Given the description of an element on the screen output the (x, y) to click on. 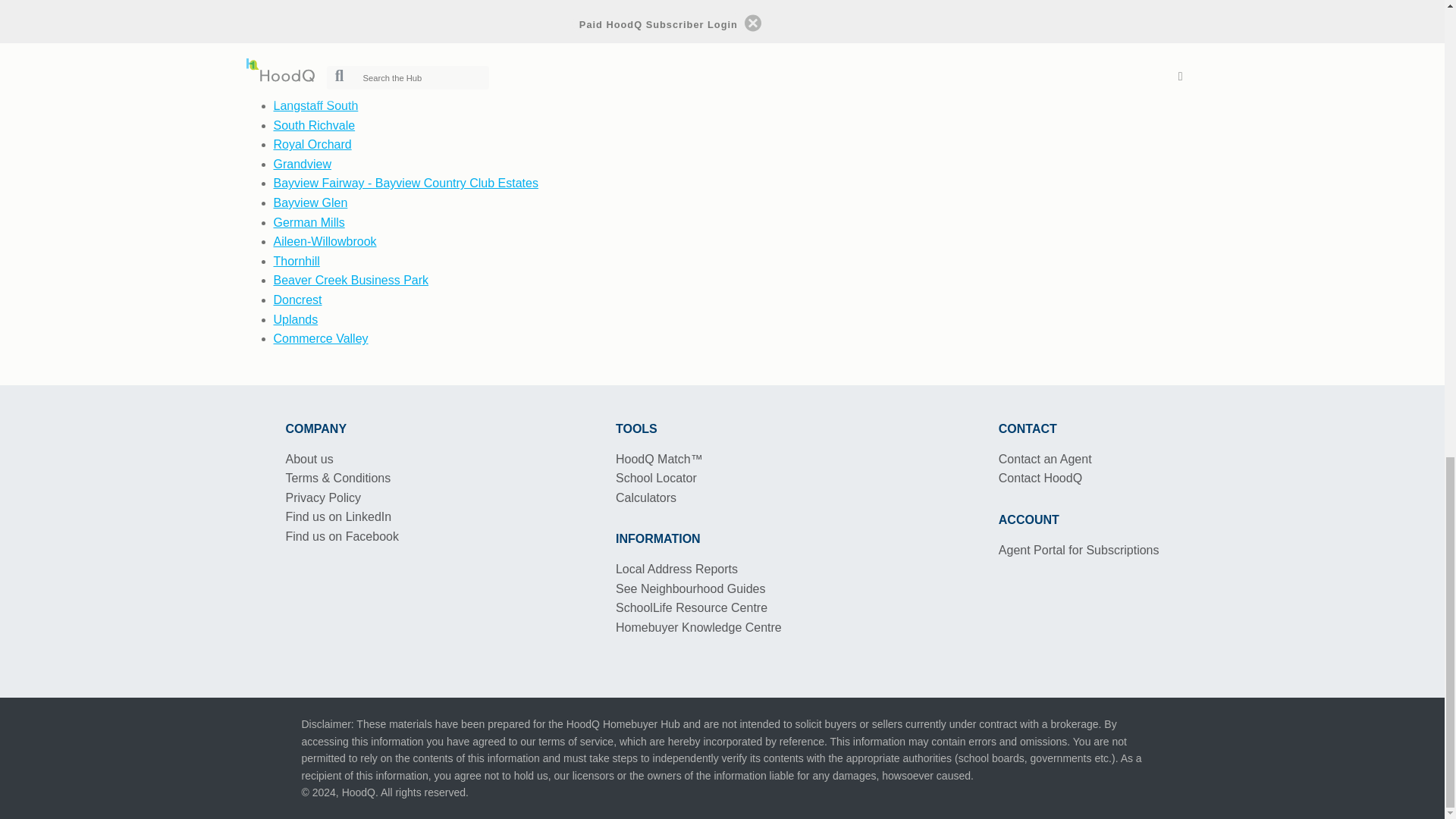
Bayview Fairway - Bayview Country Club Estates (405, 182)
Find us on LinkedIn (338, 516)
Royal Orchard (311, 144)
About us (309, 459)
Thornhill (295, 260)
Doncrest (297, 299)
School Locator (656, 477)
Aileen-Willowbrook (324, 241)
Find us on Facebook (341, 535)
Uplands (295, 318)
Privacy Policy (323, 497)
South Richvale (314, 124)
See Neighbourhood Guides (690, 588)
Commerce Valley (320, 338)
Langstaff South (315, 105)
